Given the description of an element on the screen output the (x, y) to click on. 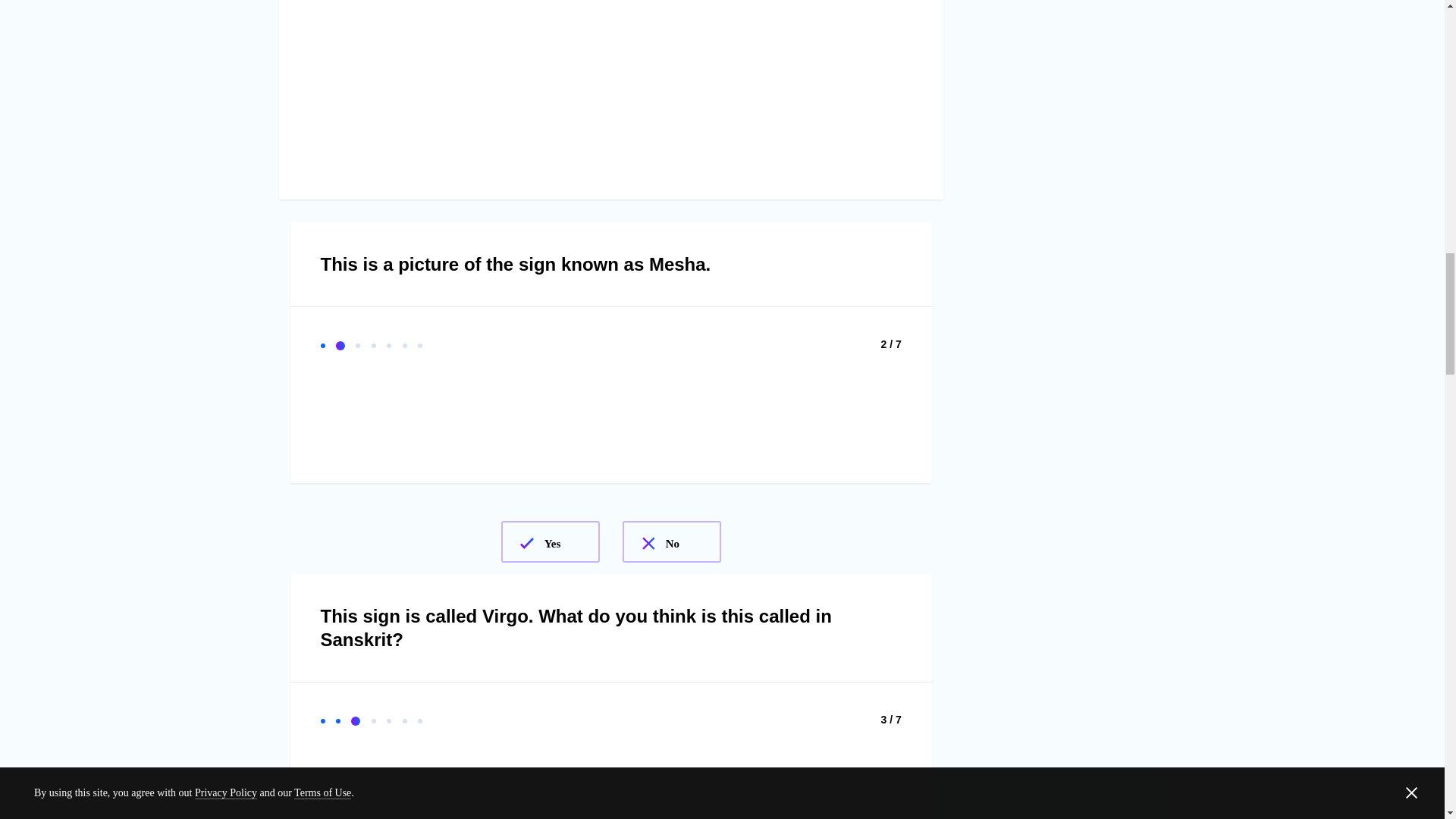
No (671, 541)
Yes (549, 541)
